Given the description of an element on the screen output the (x, y) to click on. 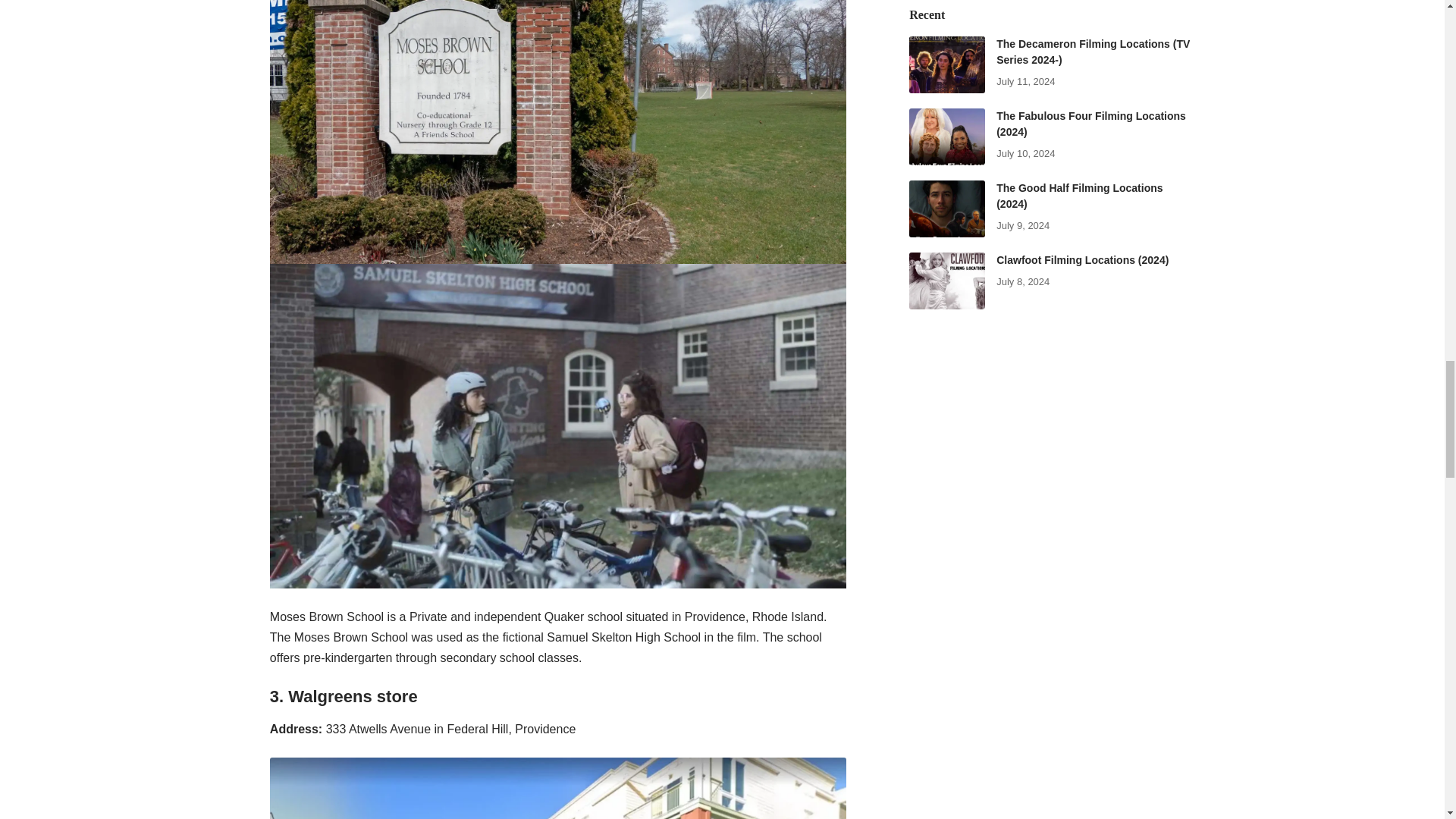
Hocus Pocus 2 Filming Locations 6 (557, 788)
